Given the description of an element on the screen output the (x, y) to click on. 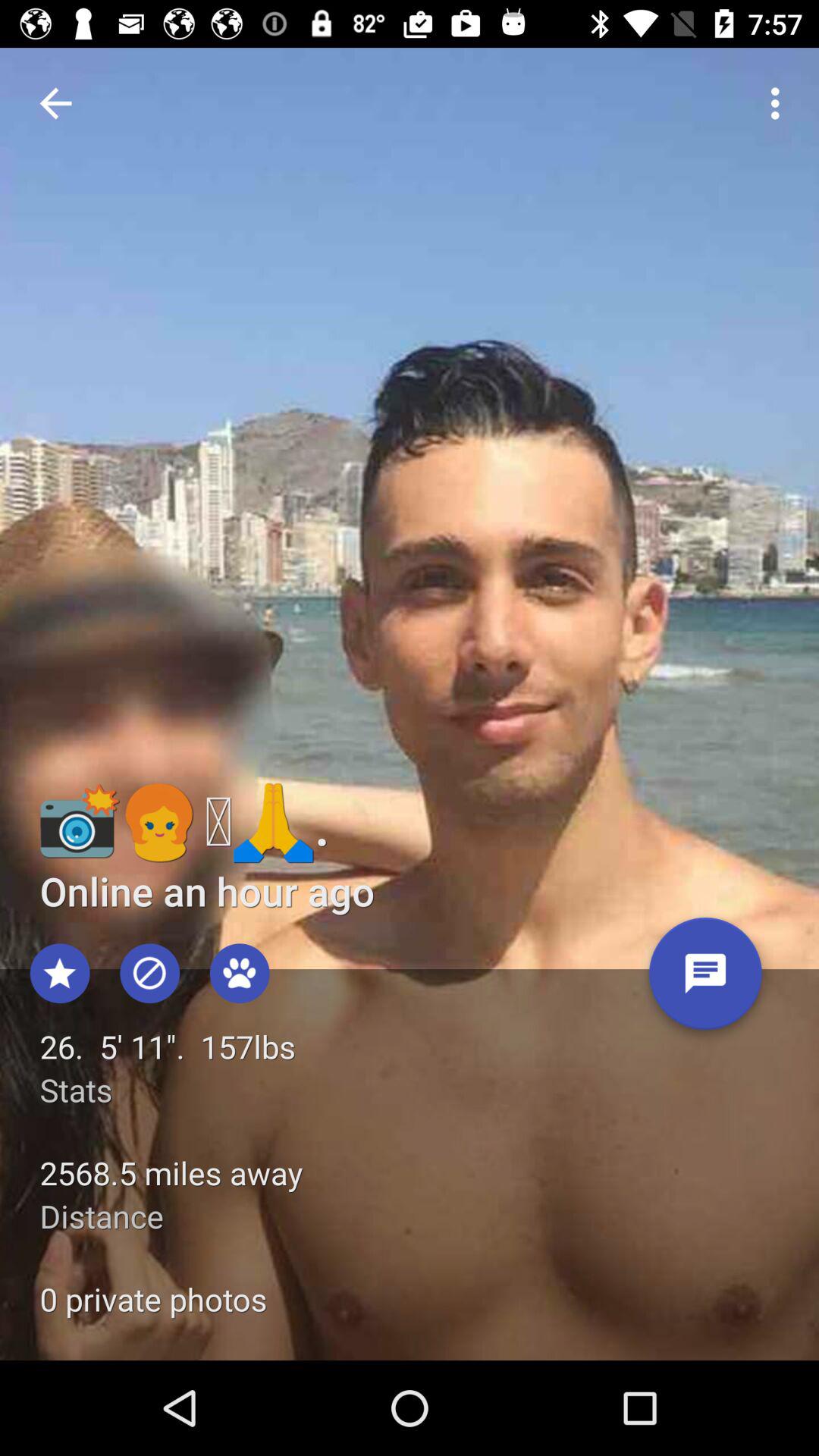
go to message (705, 979)
